Given the description of an element on the screen output the (x, y) to click on. 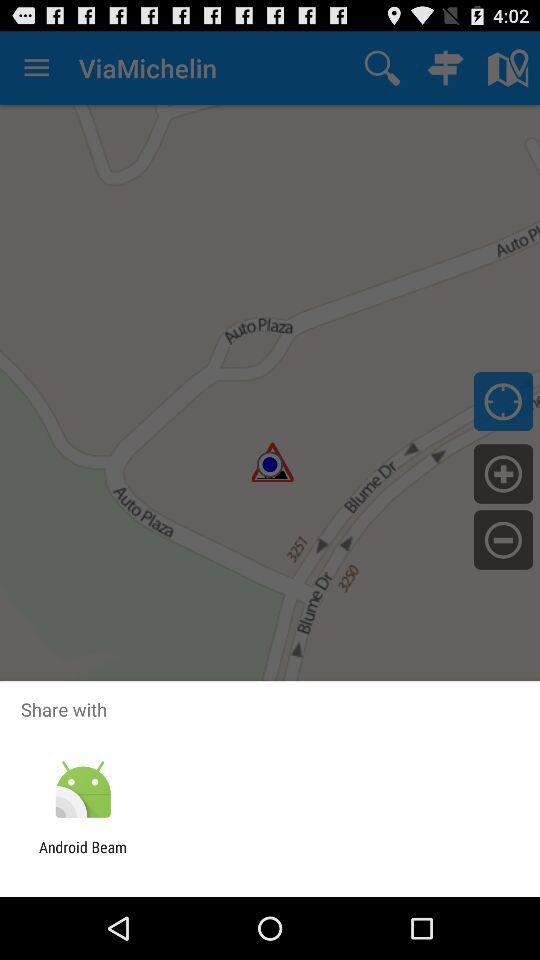
tap the android beam (83, 856)
